Given the description of an element on the screen output the (x, y) to click on. 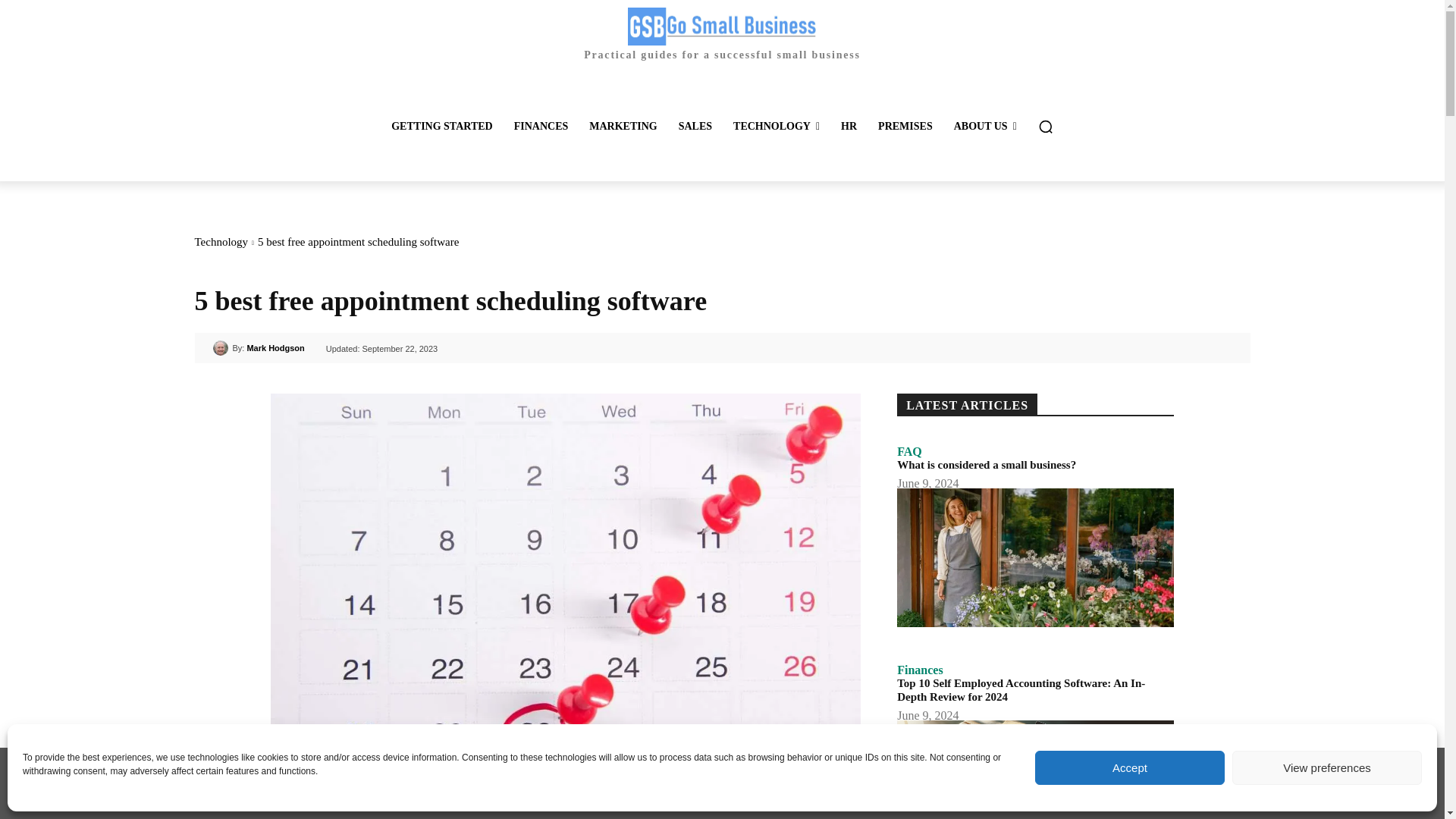
Go Small Business (721, 33)
View all posts in Technology (220, 241)
SALES (695, 126)
Accept (1129, 767)
TECHNOLOGY (775, 126)
GETTING STARTED (441, 126)
Mark Hodgson (221, 347)
View preferences (1326, 767)
FINANCES (541, 126)
Practical guides for a successful small business (721, 33)
Go Small Business (721, 26)
MARKETING (622, 126)
